Given the description of an element on the screen output the (x, y) to click on. 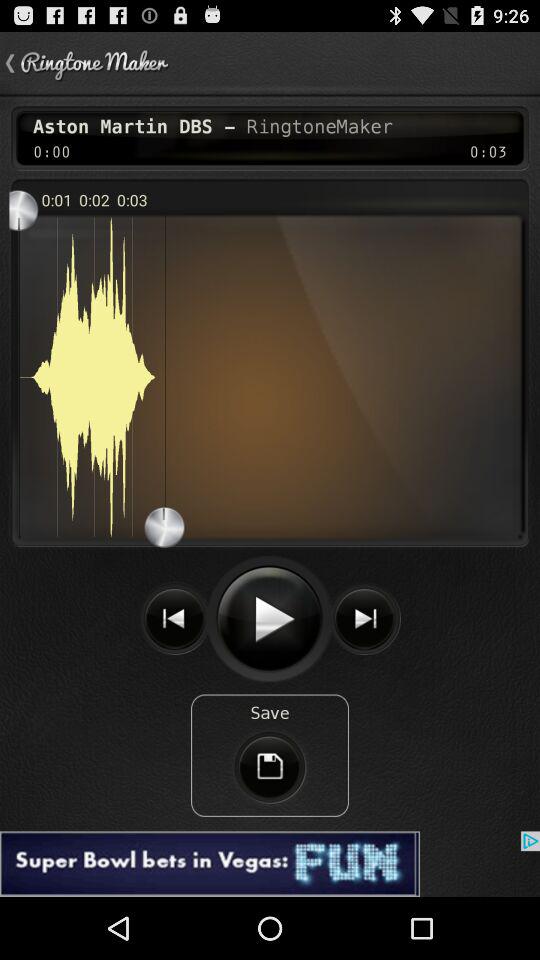
advertising area (270, 864)
